Given the description of an element on the screen output the (x, y) to click on. 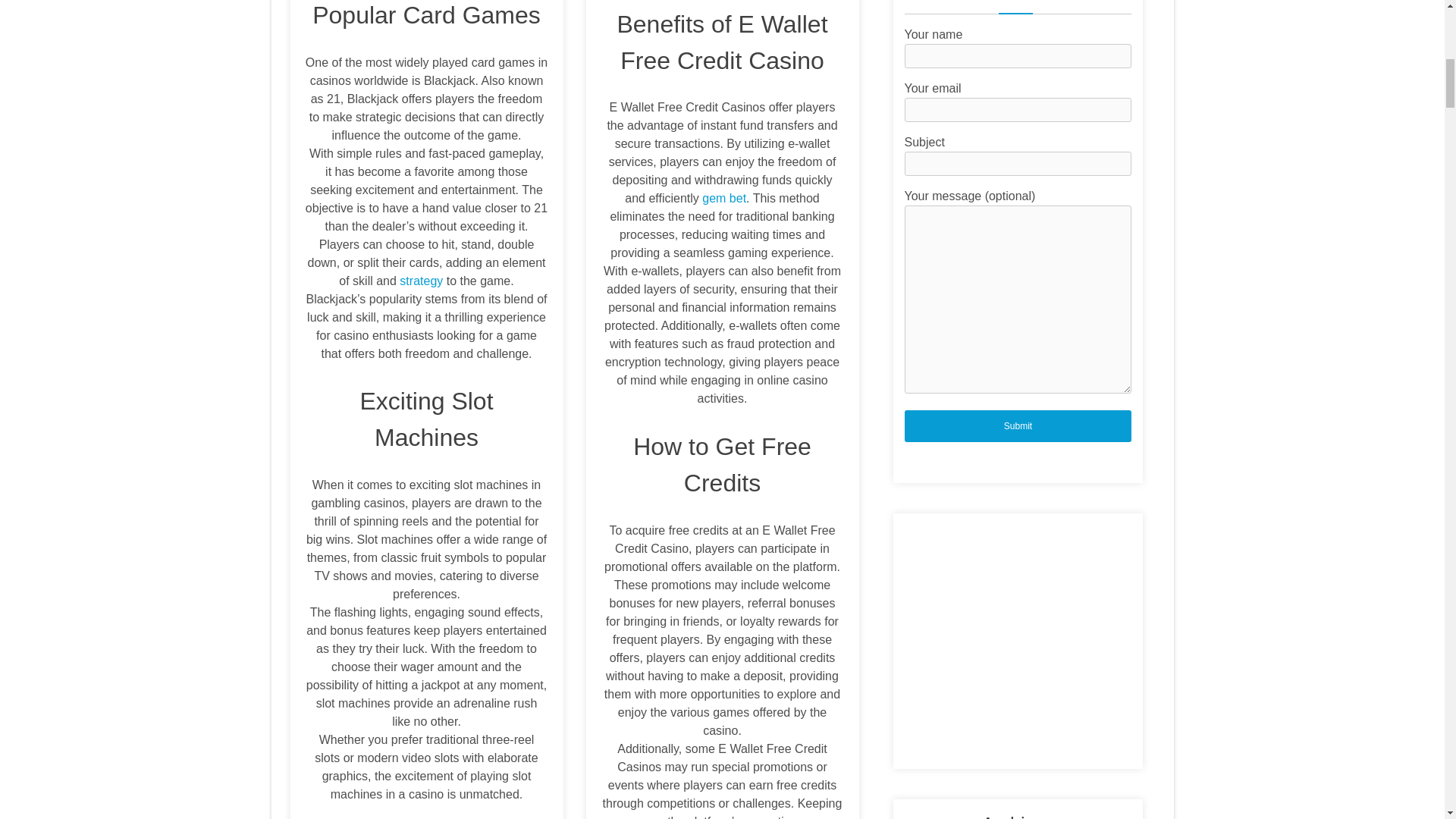
strategy (420, 280)
gem bet (723, 197)
Submit (1017, 425)
